Given the description of an element on the screen output the (x, y) to click on. 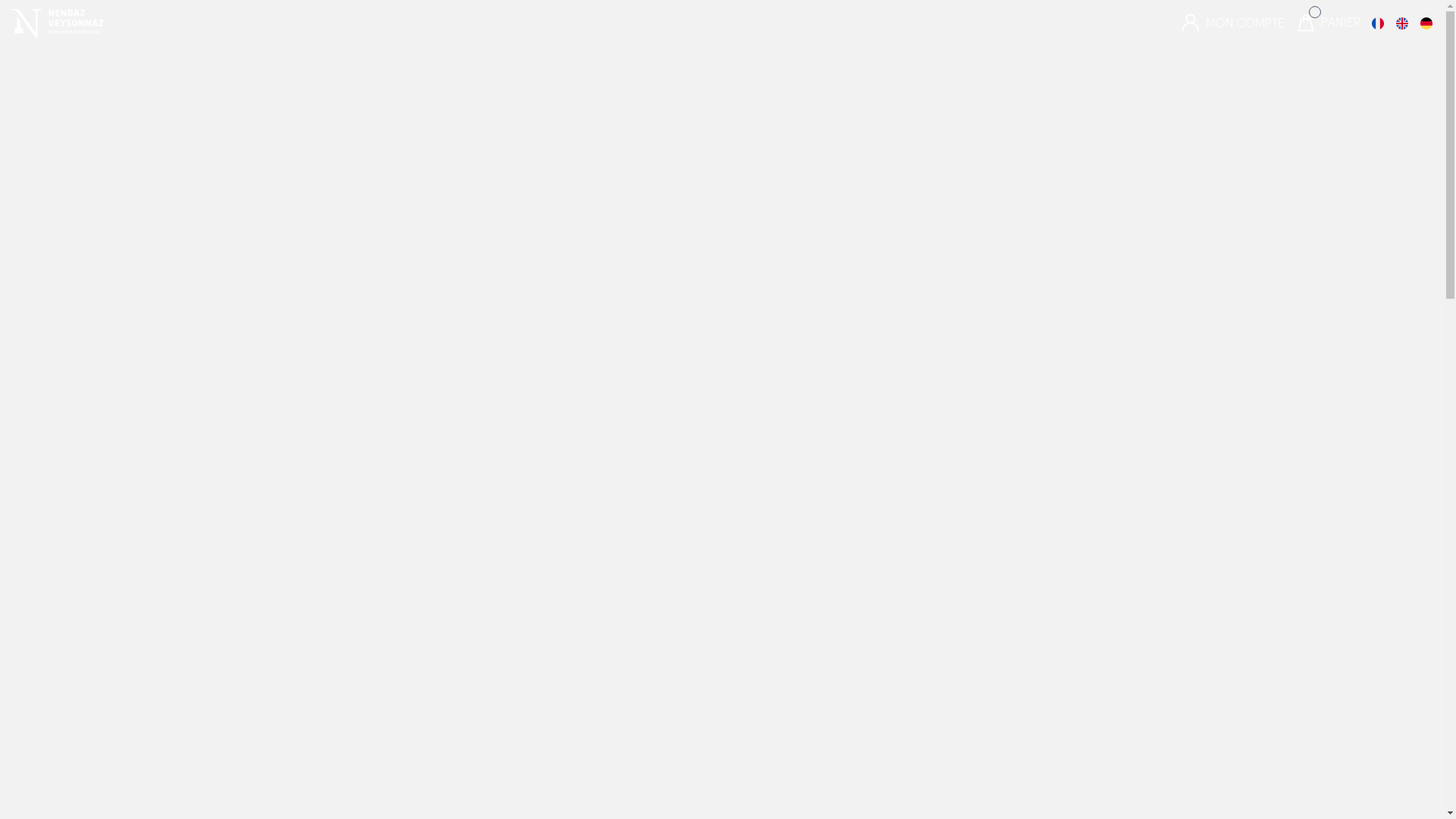
PANIER Element type: text (1333, 22)
En savoir plus Element type: text (783, 406)
MON COMPTE Element type: text (1232, 22)
Adherer en ligne Element type: text (485, 333)
Se connecter Element type: text (485, 392)
